Given the description of an element on the screen output the (x, y) to click on. 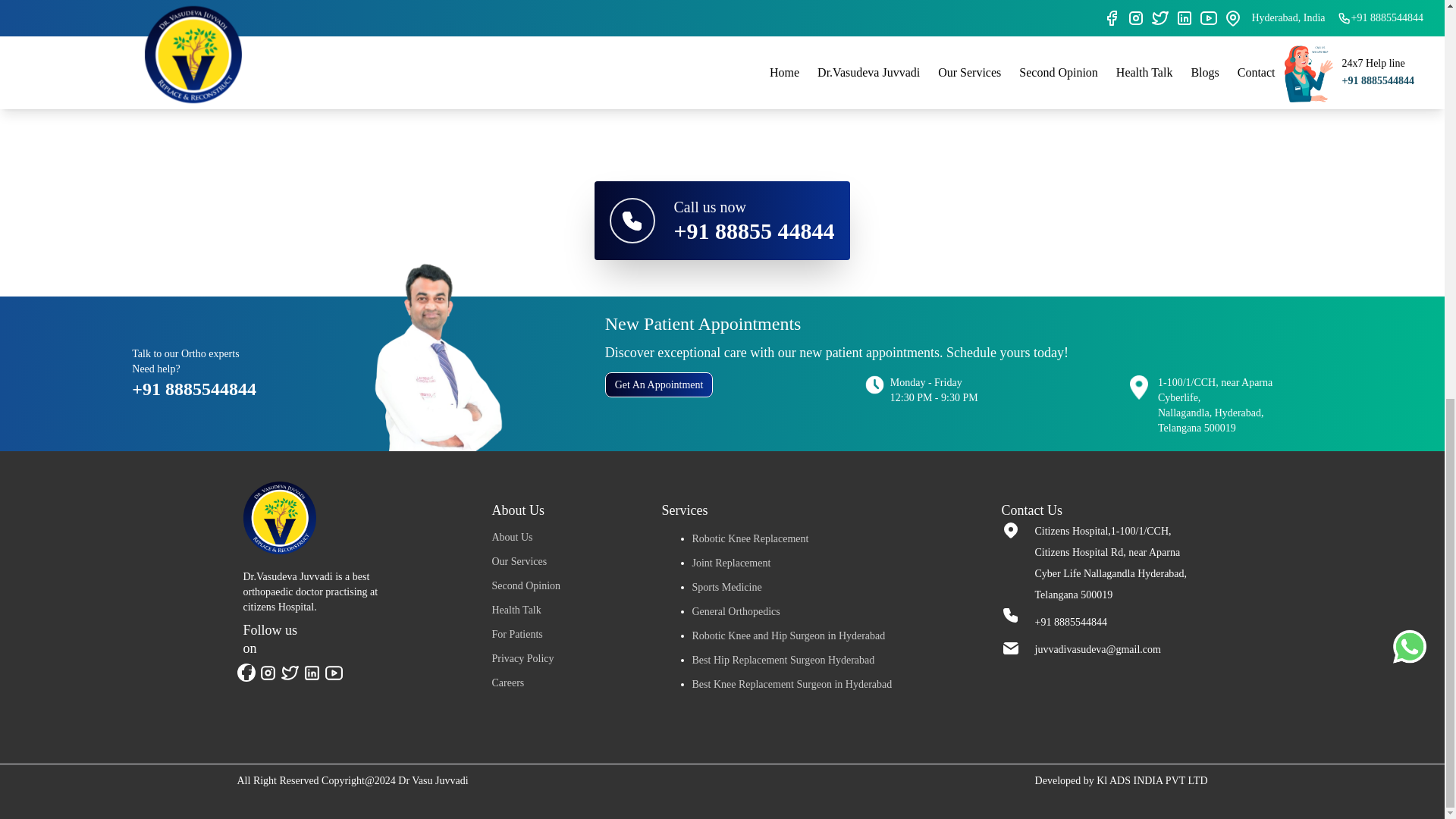
Joint Replacement (730, 562)
About Us (512, 536)
Health Talk (516, 609)
Privacy Policy (522, 658)
Careers (508, 682)
For Patients (516, 633)
Our Services (519, 561)
Second Opinion (526, 585)
Get An Appointment (659, 384)
Sports Medicine (726, 586)
Robotic Knee Replacement (749, 538)
